Given the description of an element on the screen output the (x, y) to click on. 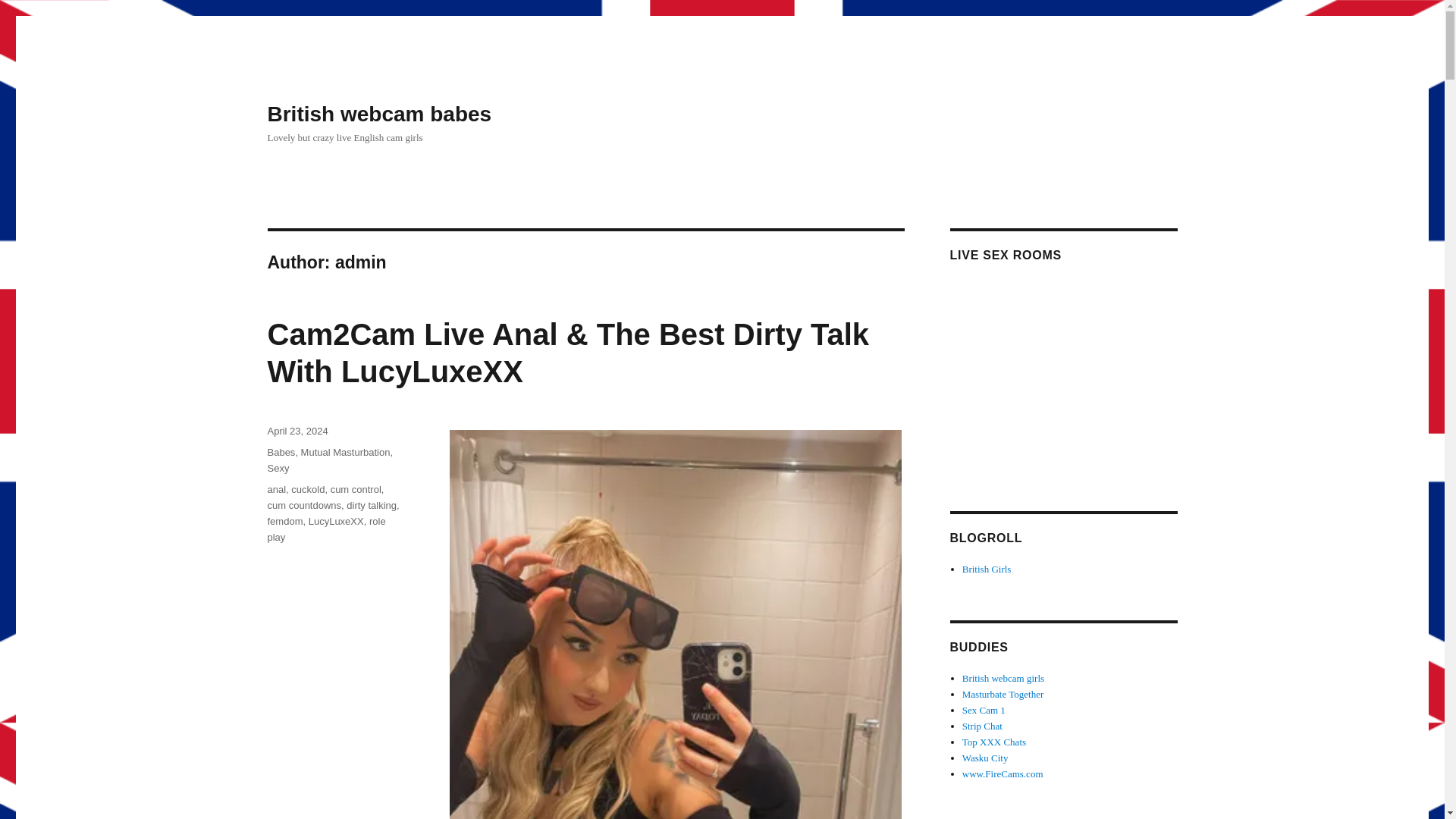
cuckold (307, 489)
April 23, 2024 (296, 430)
dirty talking (371, 505)
Mutual Masturbation (345, 451)
femdom (284, 521)
cum control (355, 489)
Babes (280, 451)
Live Porn Chat (1002, 773)
British webcam babes (379, 114)
cum countdowns (303, 505)
